Given the description of an element on the screen output the (x, y) to click on. 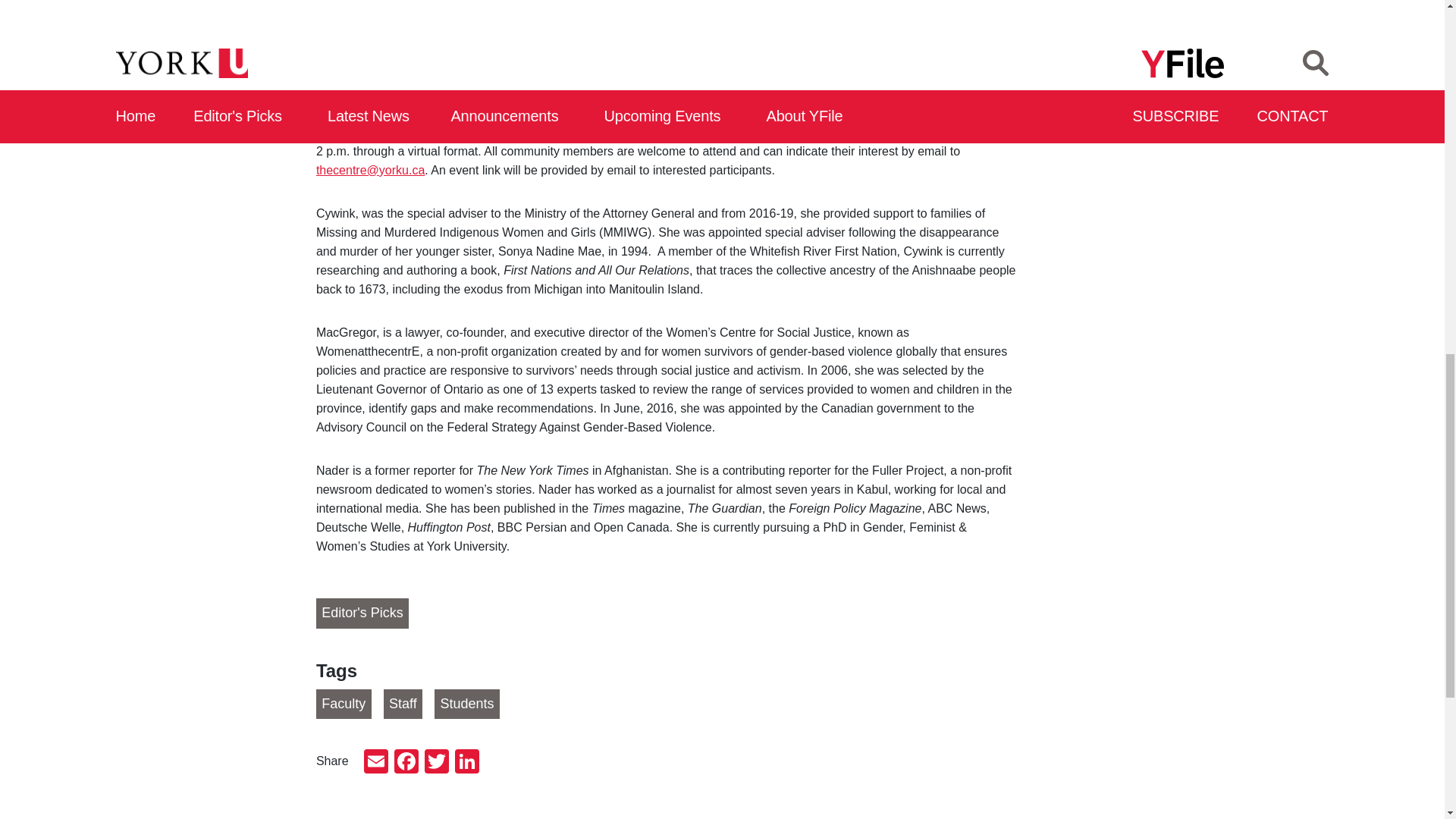
Faculty (343, 704)
Staff (403, 704)
Email (376, 763)
Editor's Picks (362, 613)
Email (376, 763)
Students (466, 704)
Facebook (406, 763)
LinkedIn (466, 763)
Twitter (436, 763)
